Given the description of an element on the screen output the (x, y) to click on. 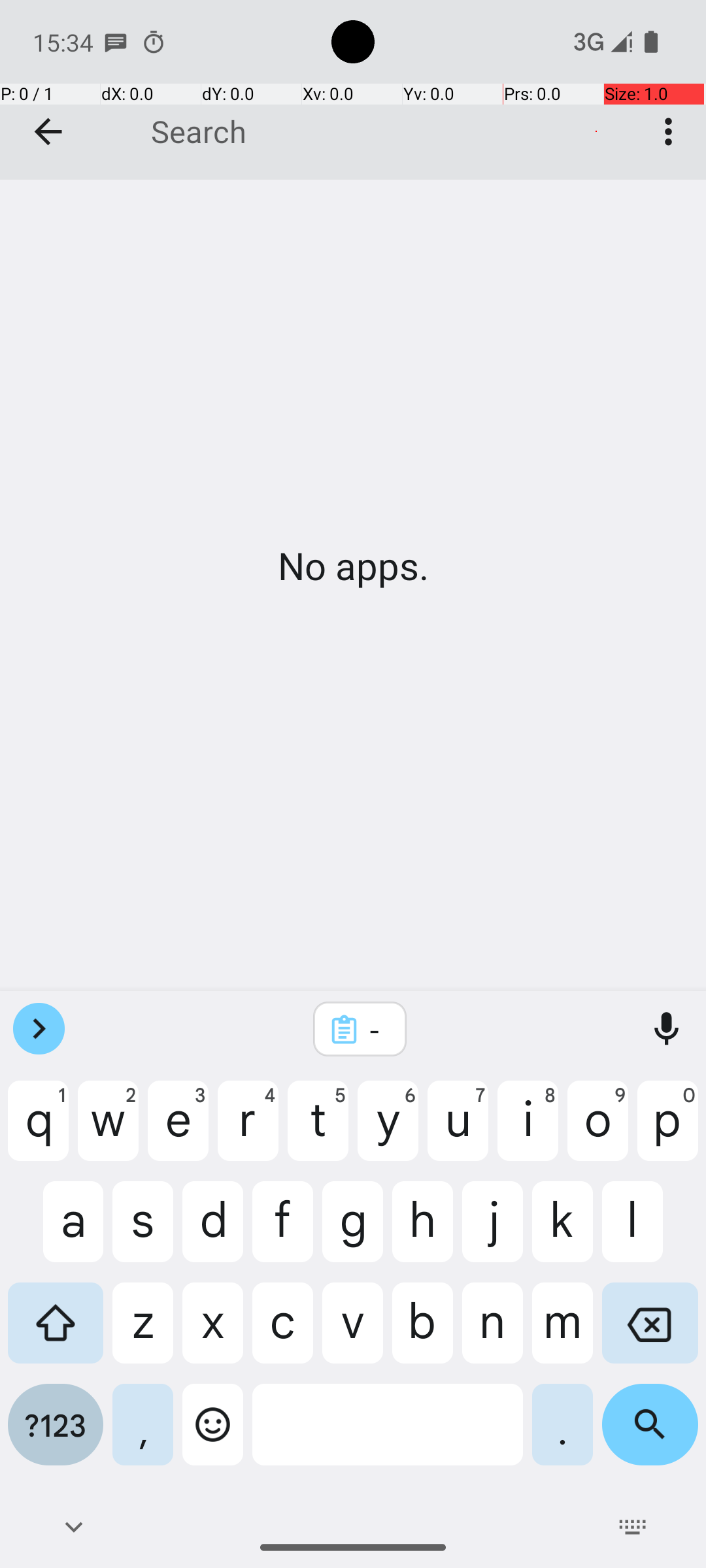
No apps. Element type: android.widget.TextView (353, 565)
